Given the description of an element on the screen output the (x, y) to click on. 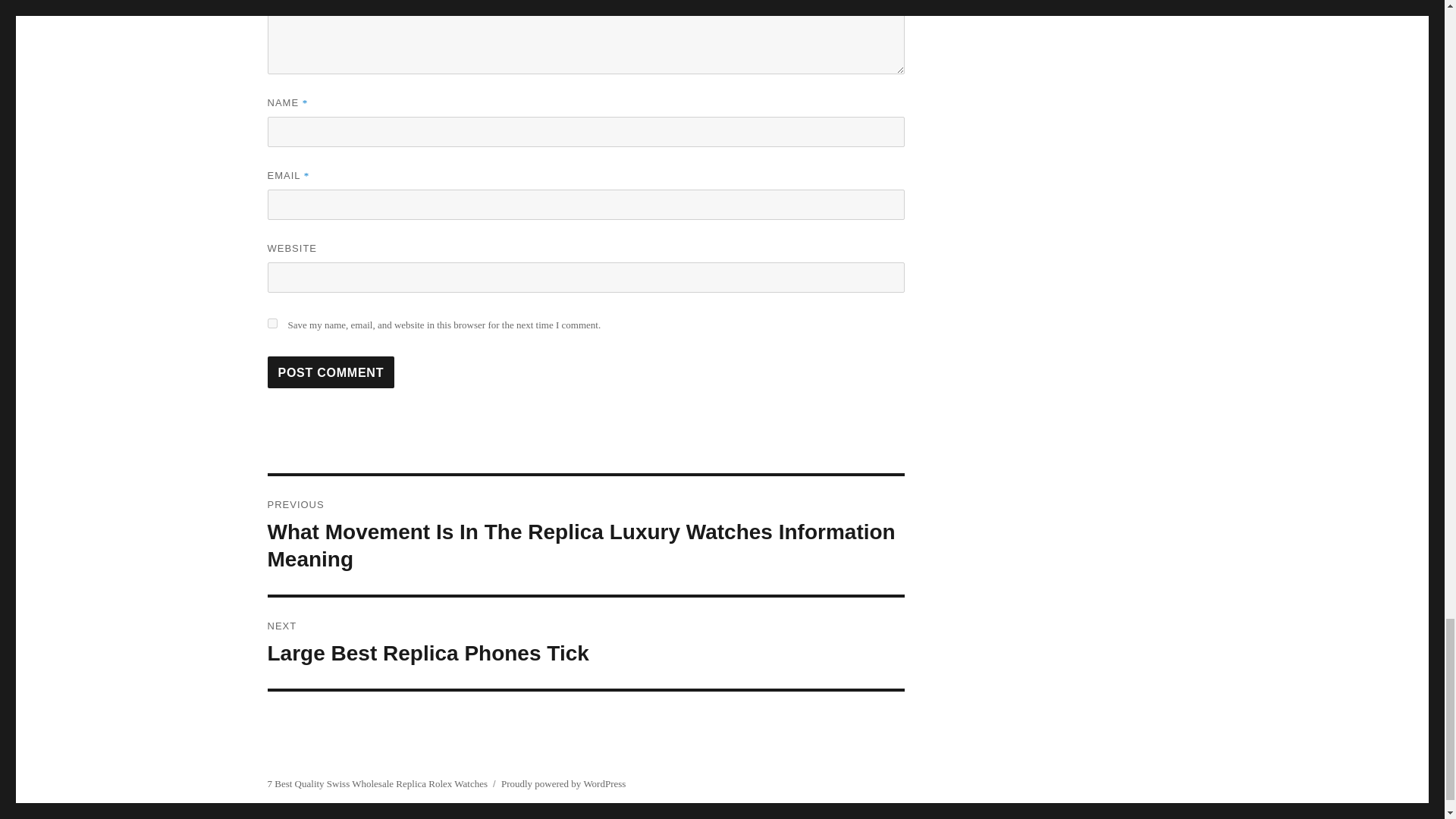
Post Comment (330, 372)
yes (271, 323)
Post Comment (585, 642)
